Given the description of an element on the screen output the (x, y) to click on. 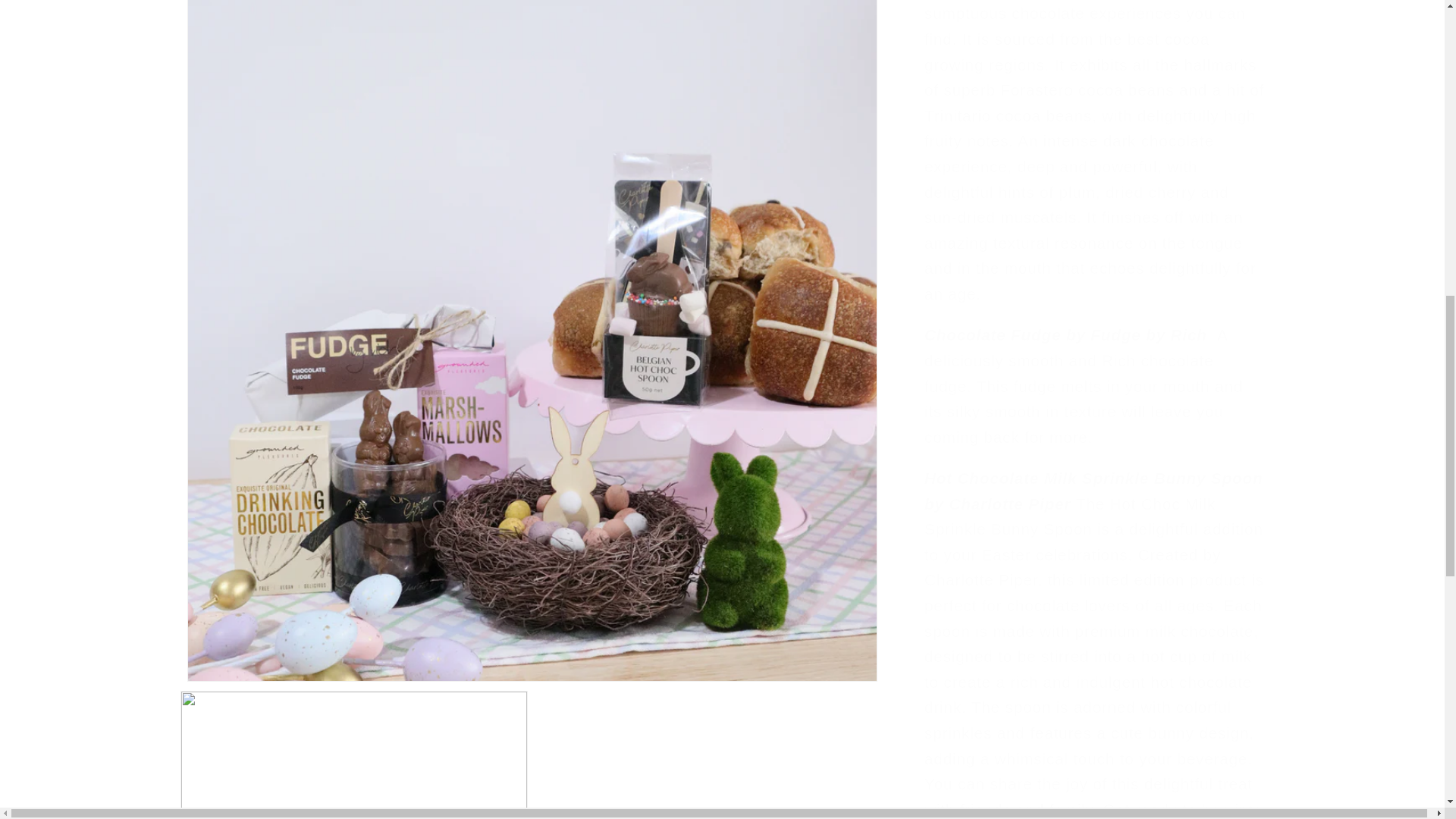
Open media 1 in modal (532, 15)
Open media 2 in modal (354, 214)
